Given the description of an element on the screen output the (x, y) to click on. 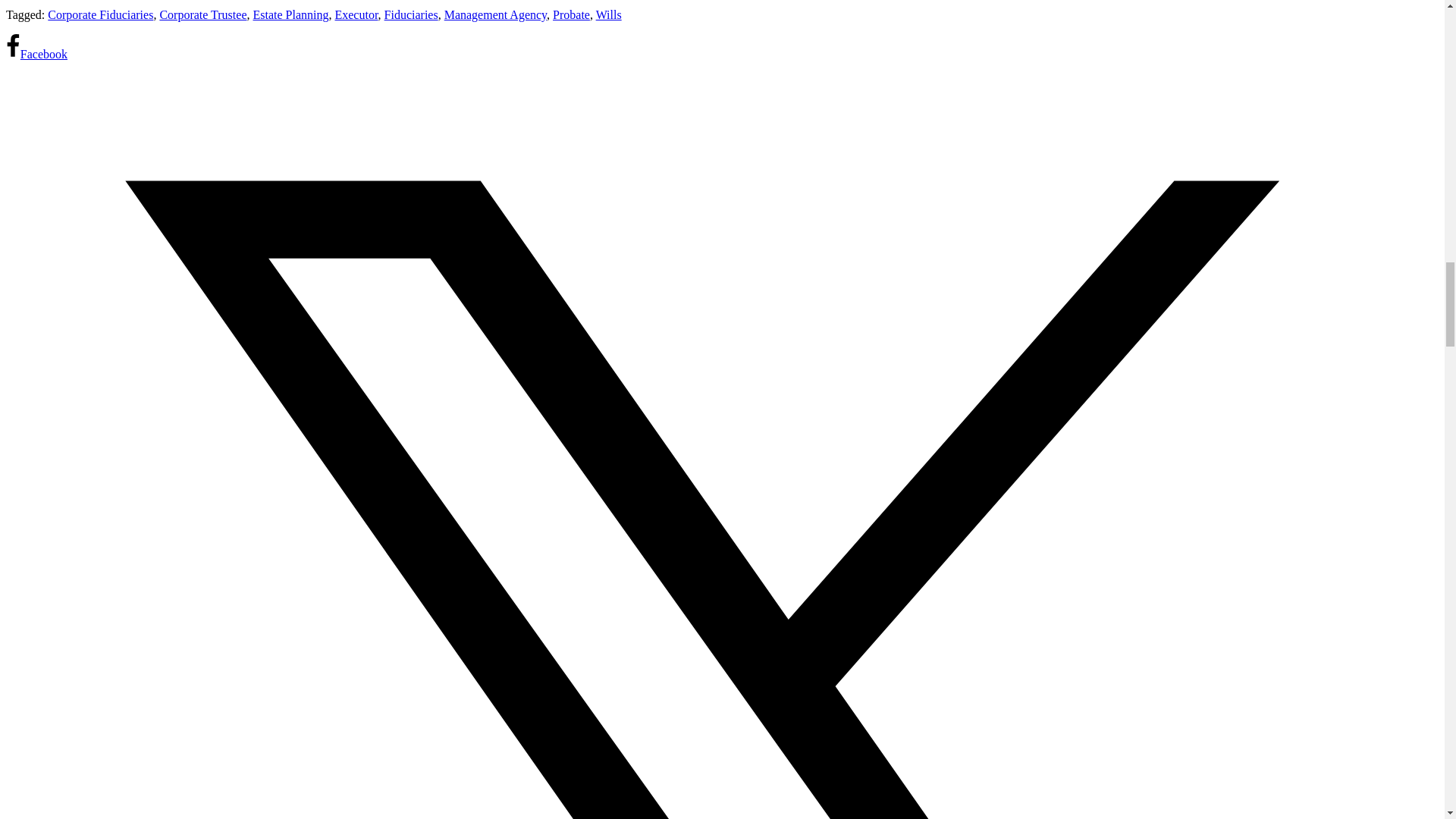
Corporate Fiduciaries (100, 14)
Share on Facebook (35, 53)
Corporate Trustee (202, 14)
Estate Planning (291, 14)
